Given the description of an element on the screen output the (x, y) to click on. 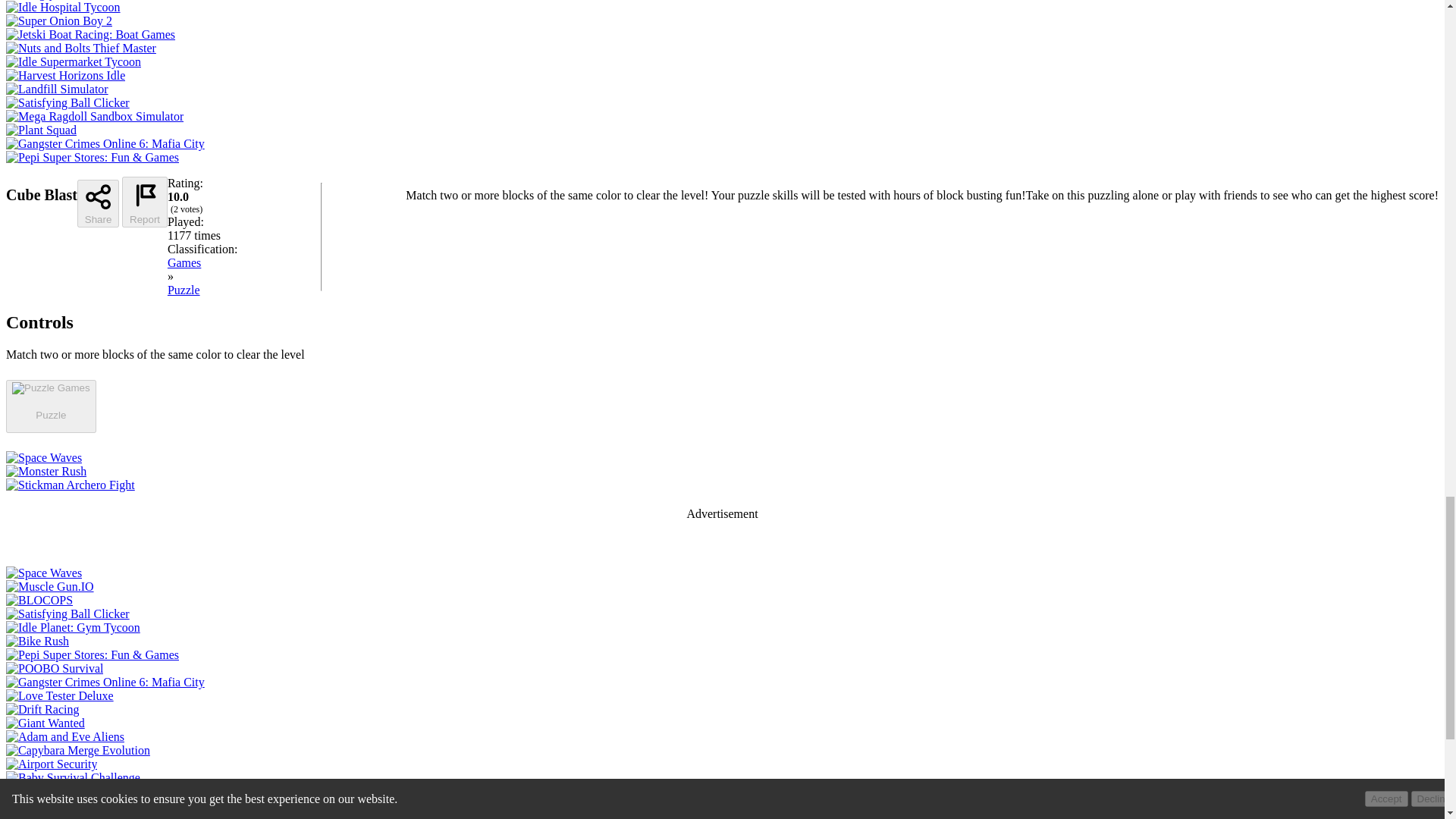
Puzzle (183, 289)
Games (183, 262)
Puzzle (50, 413)
